Given the description of an element on the screen output the (x, y) to click on. 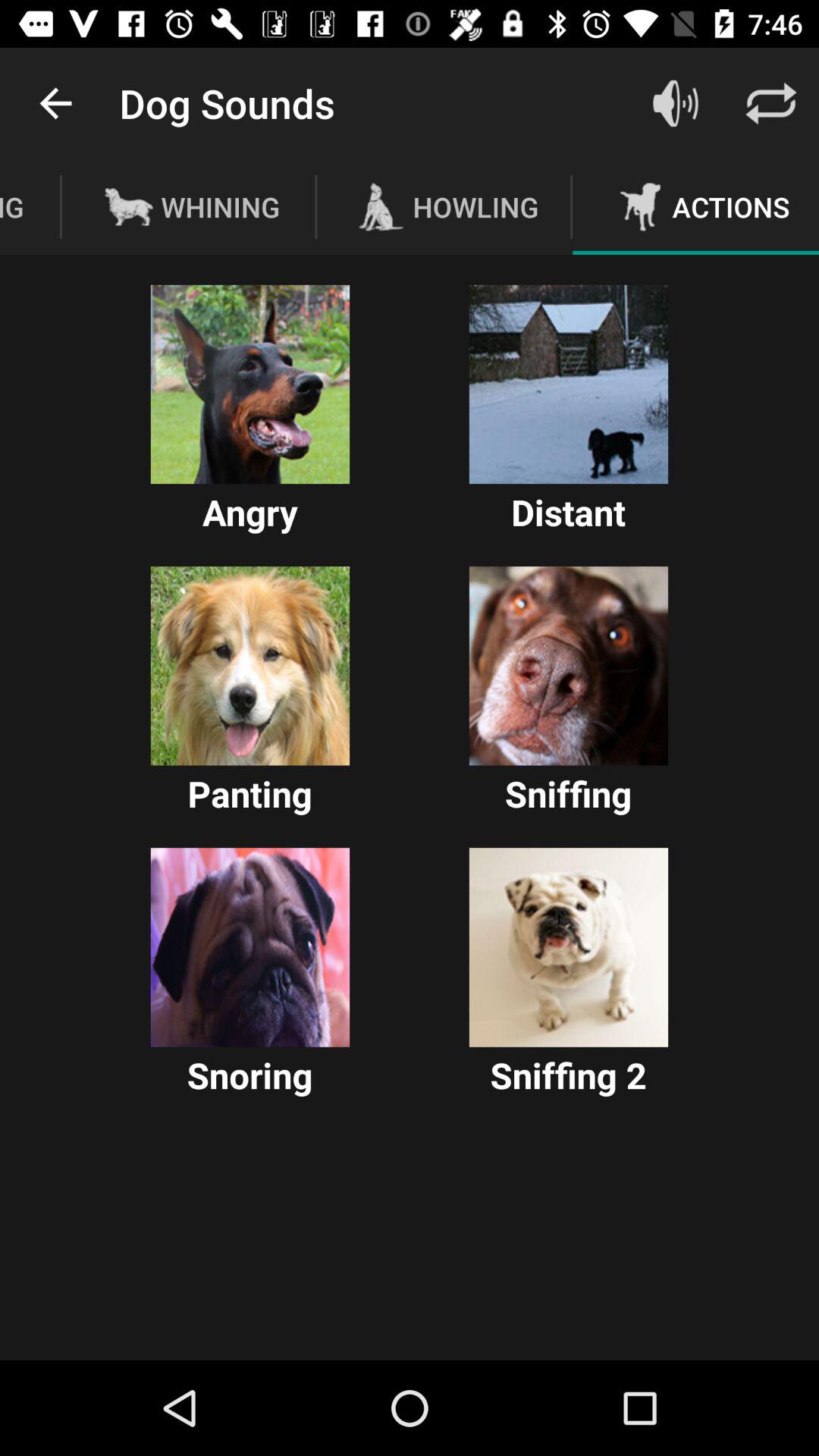
launch icon next to the dog sounds (55, 103)
